Given the description of an element on the screen output the (x, y) to click on. 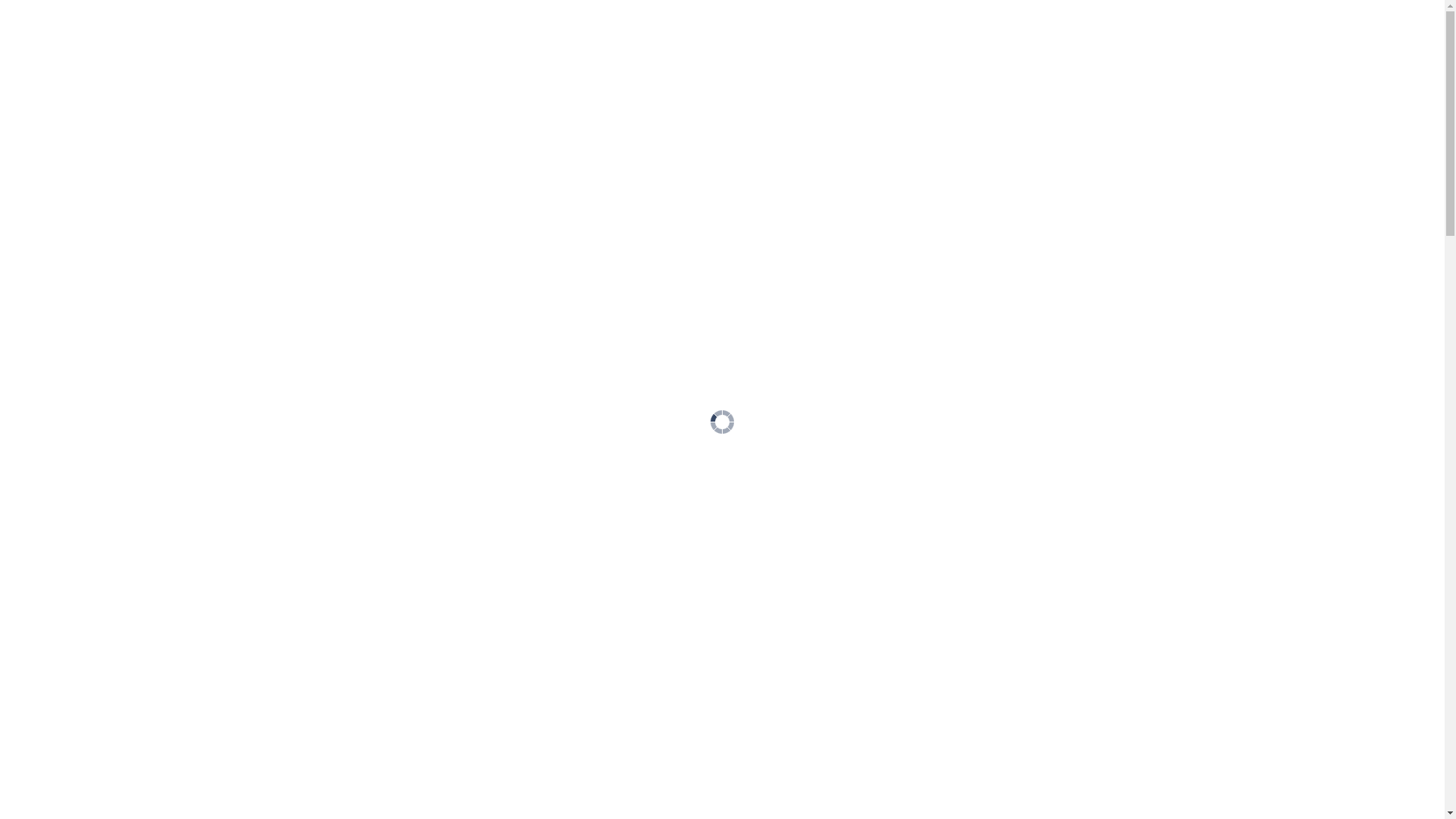
Contact Us Element type: text (1339, 66)
home Element type: text (46, 179)
About Element type: text (47, 196)
Contact Us Element type: text (61, 229)
Our Services Element type: text (1192, 66)
Our Services Element type: text (66, 212)
About Element type: text (1060, 66)
